Given the description of an element on the screen output the (x, y) to click on. 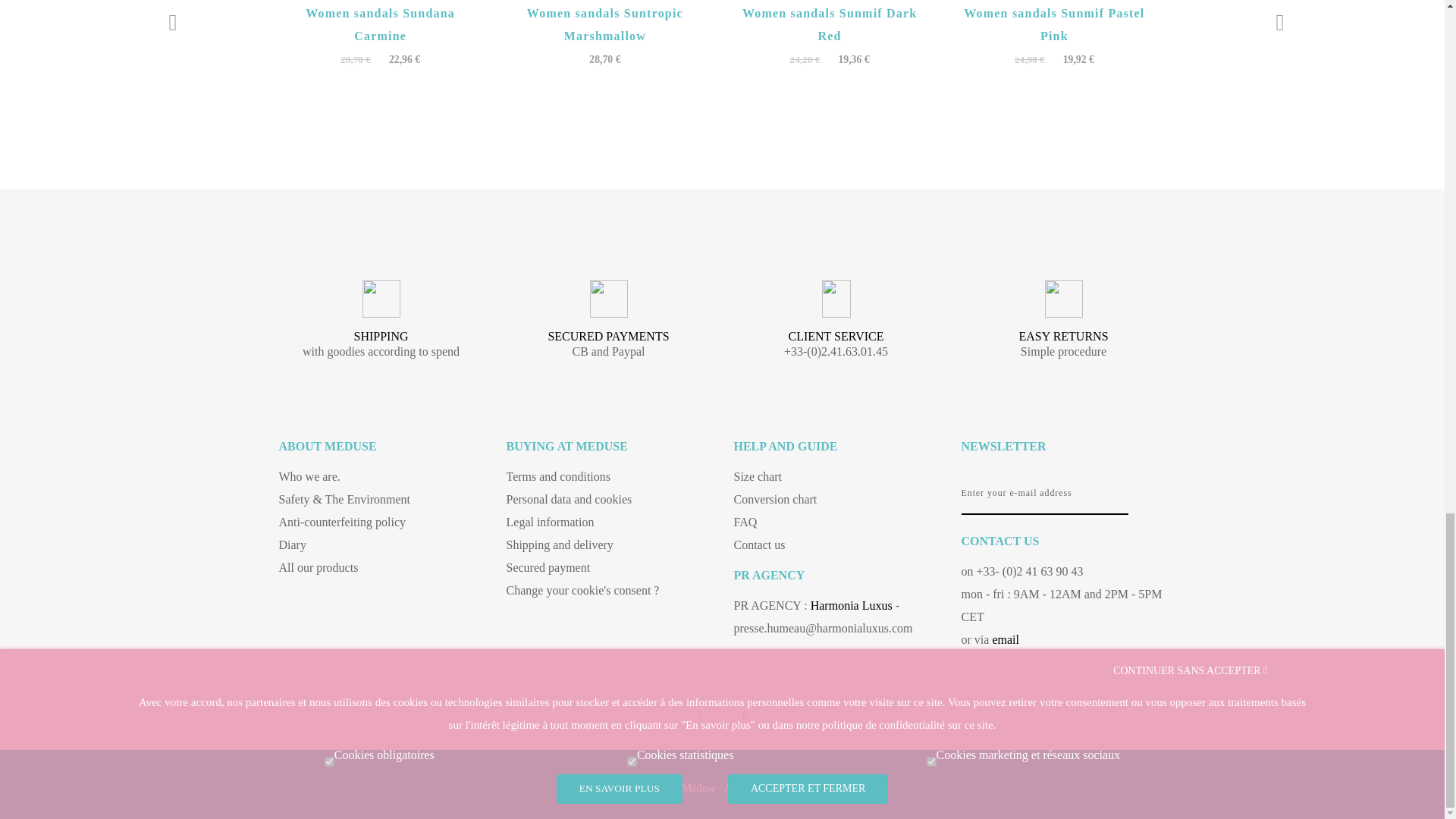
Enter your e-mail address (1044, 493)
